Given the description of an element on the screen output the (x, y) to click on. 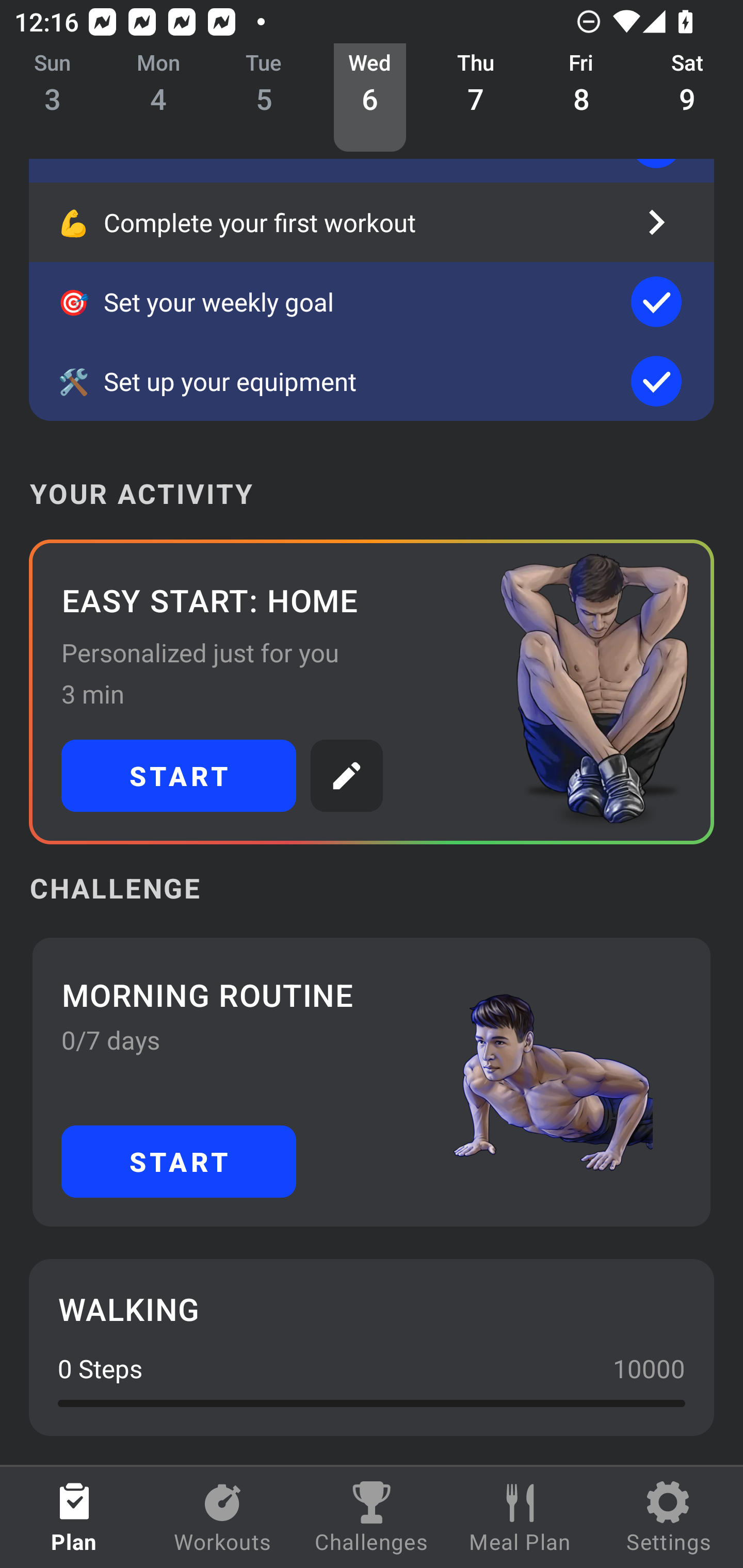
Sun 3 (52, 97)
Mon 4 (158, 97)
Tue 5 (264, 97)
Wed 6 (369, 97)
Thu 7 (475, 97)
Fri 8 (581, 97)
Sat 9 (687, 97)
💪 Complete your first workout (371, 221)
START (178, 776)
MORNING ROUTINE 0/7 days START (371, 1082)
START (178, 1161)
WALKING 0 Steps 10000 0.0 (371, 1347)
 Workouts  (222, 1517)
 Challenges  (371, 1517)
 Meal Plan  (519, 1517)
 Settings  (668, 1517)
